Given the description of an element on the screen output the (x, y) to click on. 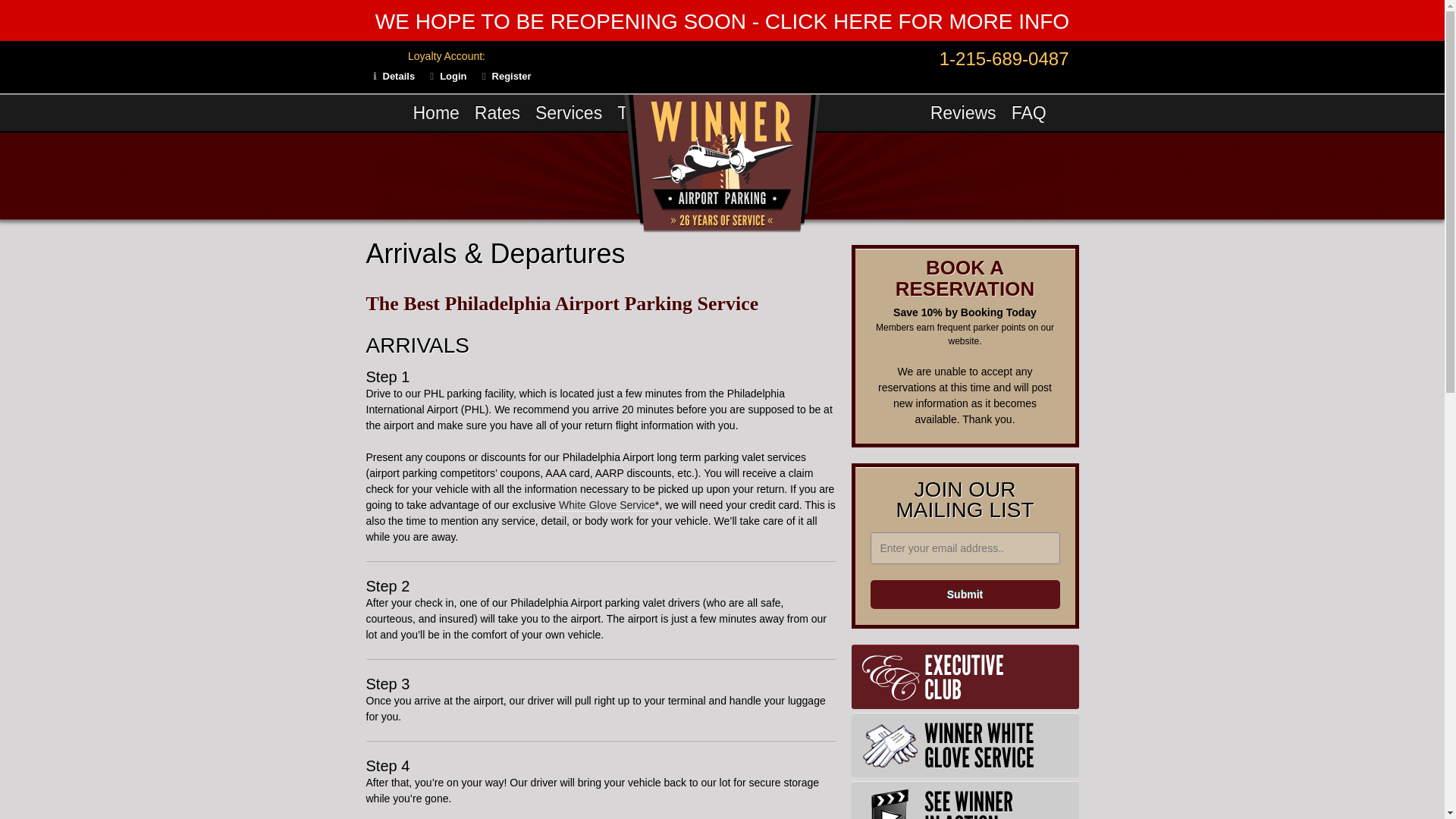
Testimonials (665, 113)
Login (452, 75)
Rates (497, 113)
Details (397, 75)
FAQ (1029, 113)
Contact (496, 149)
Services (568, 113)
Register (511, 75)
Directions (411, 149)
1-215-689-0487 (1003, 58)
Submit (964, 594)
Reviews (963, 113)
Submit (964, 594)
White Glove Service (607, 504)
Home (434, 113)
